Given the description of an element on the screen output the (x, y) to click on. 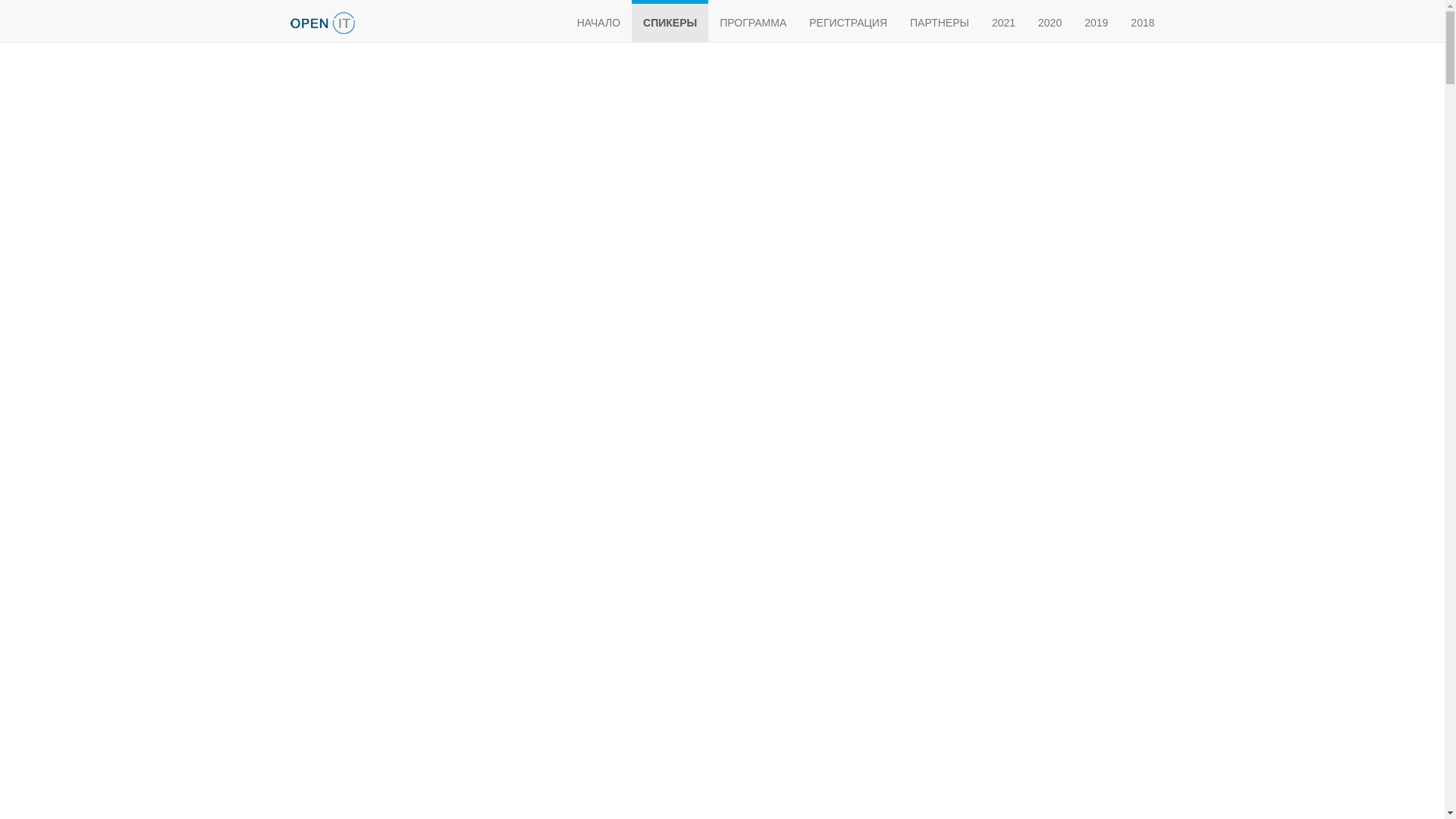
2021 Element type: text (1003, 20)
2019 Element type: text (1096, 20)
2020 Element type: text (1049, 20)
2018 Element type: text (1142, 20)
